Given the description of an element on the screen output the (x, y) to click on. 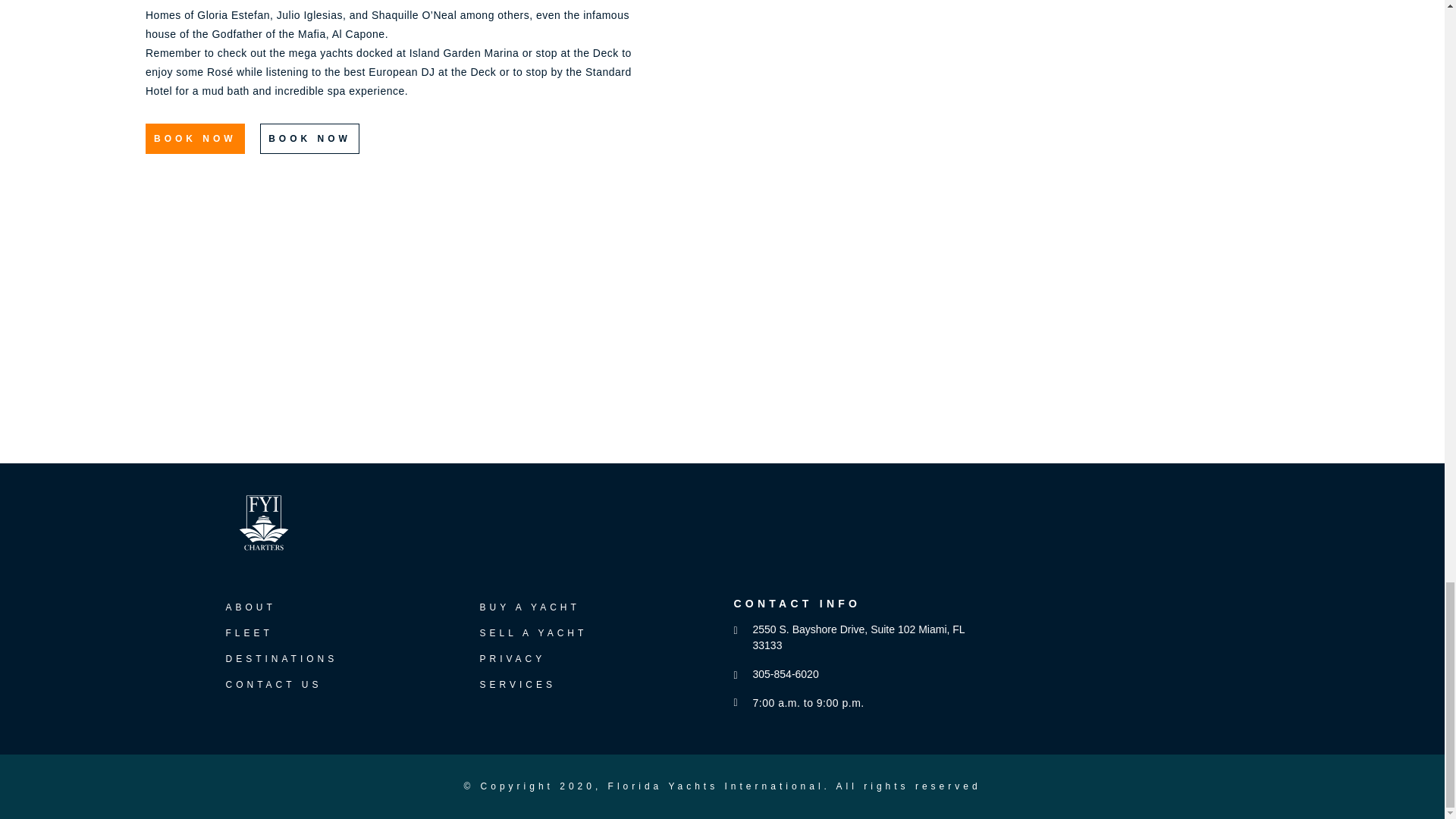
305-854-6020 (779, 674)
BOOK NOW (309, 138)
FLEET (249, 633)
SERVICES (516, 684)
2550 S. Bayshore Drive, Suite 102 Miami, FL 33133 (856, 637)
BOOK NOW (194, 138)
SELL A YACHT (532, 633)
ABOUT (250, 606)
PRIVACY (511, 658)
DESTINATIONS (281, 658)
CONTACT US (273, 684)
BUY A YACHT (529, 606)
